Given the description of an element on the screen output the (x, y) to click on. 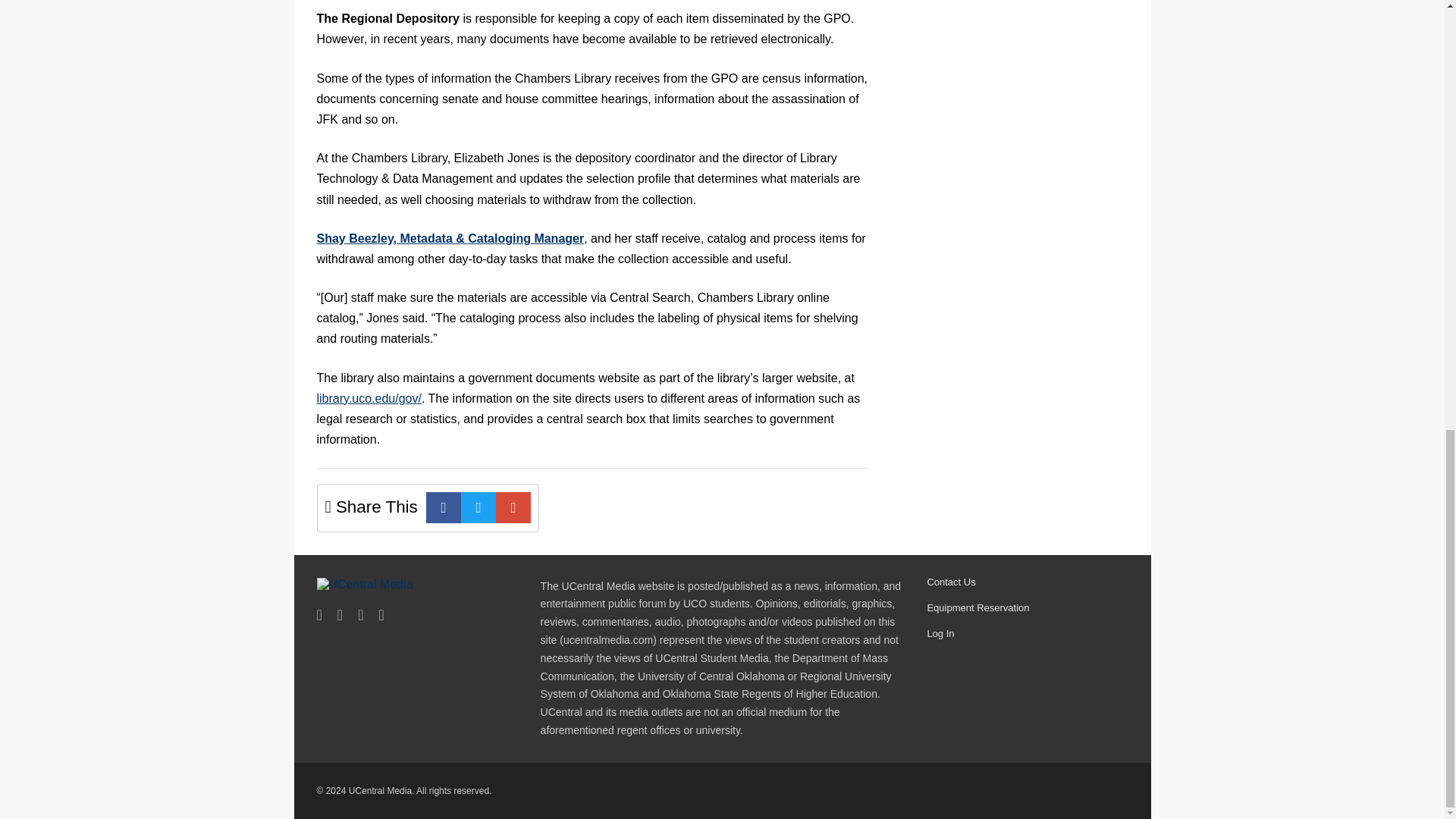
Twitter (478, 507)
E-mail (513, 507)
Facebook (443, 507)
